Given the description of an element on the screen output the (x, y) to click on. 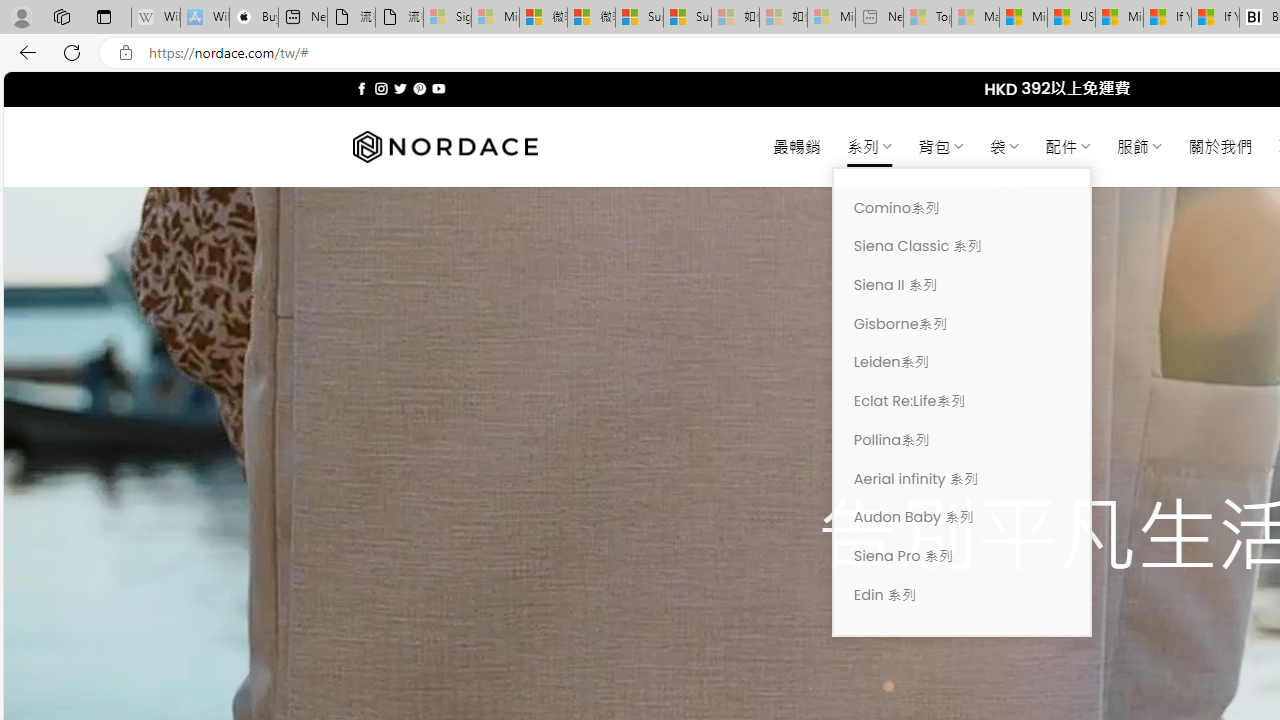
Buy iPad - Apple (253, 17)
Follow on Twitter (400, 88)
